Given the description of an element on the screen output the (x, y) to click on. 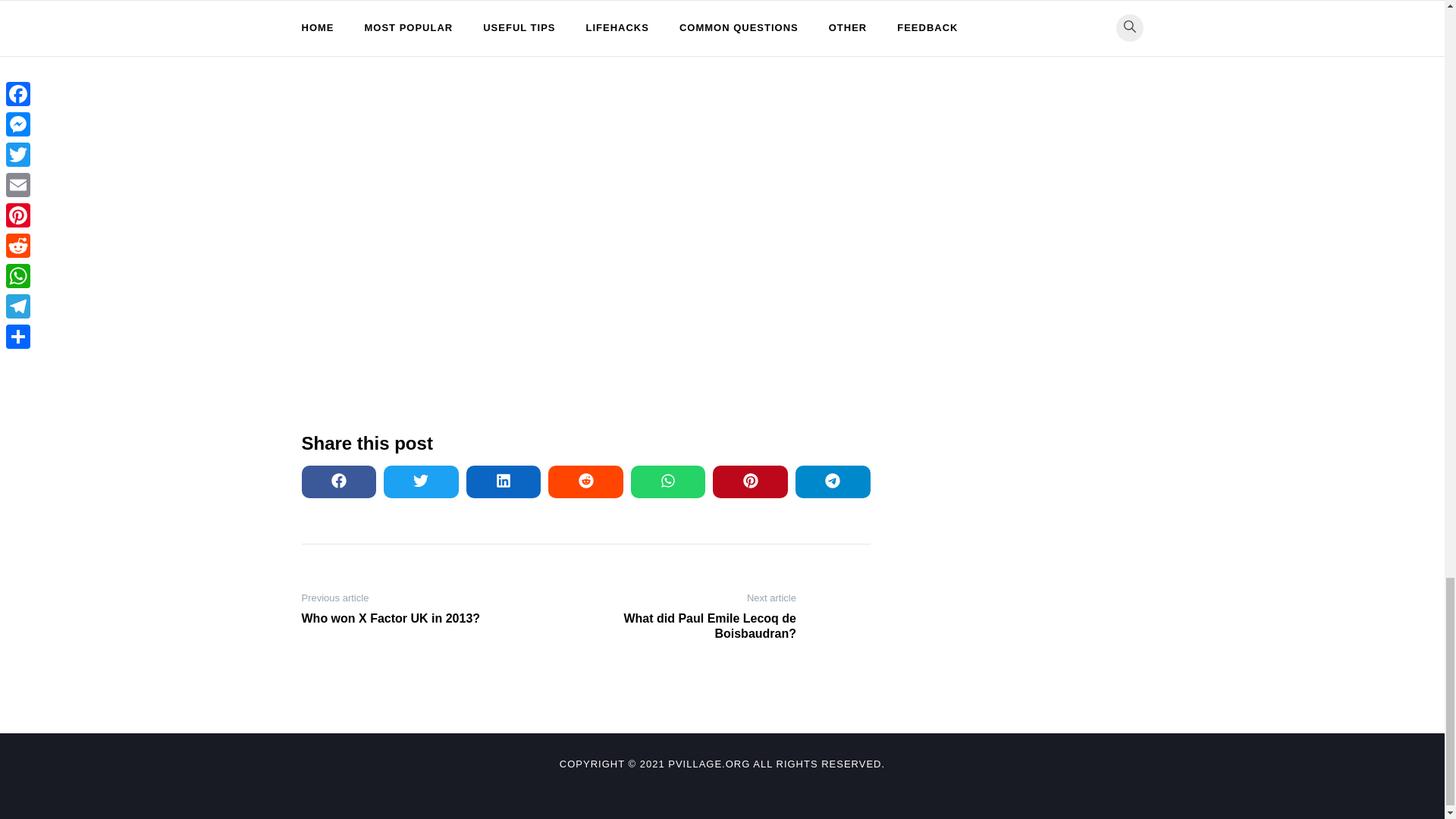
What did Paul Emile Lecoq de Boisbaudran? (696, 626)
Who won X Factor UK in 2013? (400, 618)
